Given the description of an element on the screen output the (x, y) to click on. 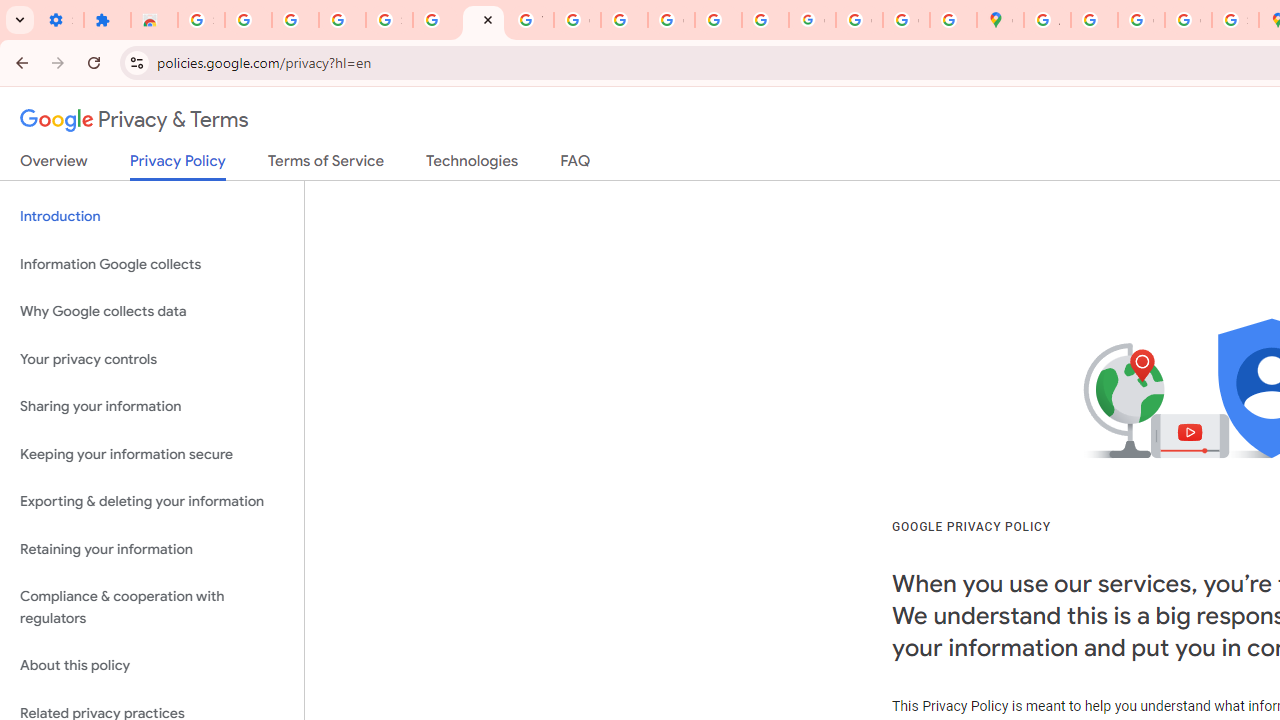
Sign in - Google Accounts (201, 20)
Retaining your information (152, 548)
Sign in - Google Accounts (389, 20)
About this policy (152, 666)
https://scholar.google.com/ (623, 20)
